Given the description of an element on the screen output the (x, y) to click on. 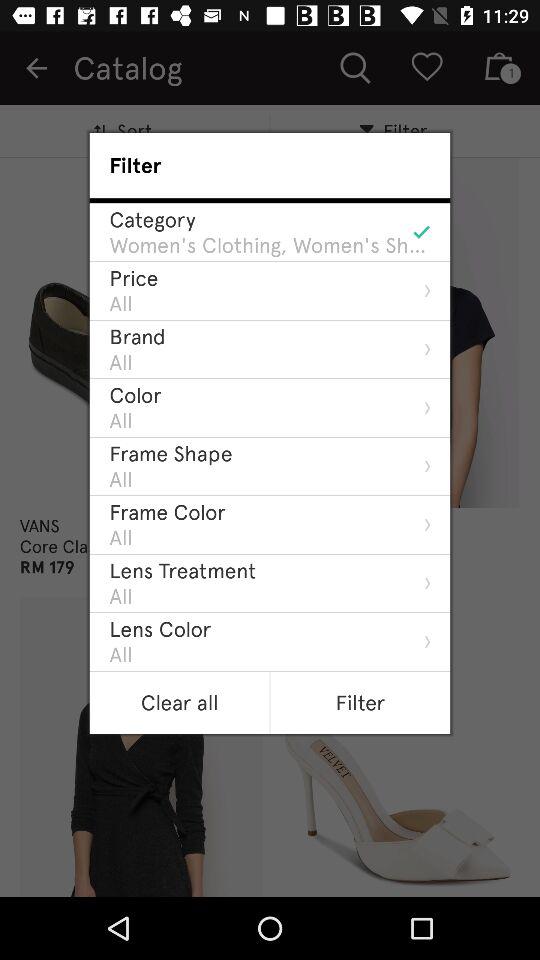
flip until clear all item (179, 702)
